Given the description of an element on the screen output the (x, y) to click on. 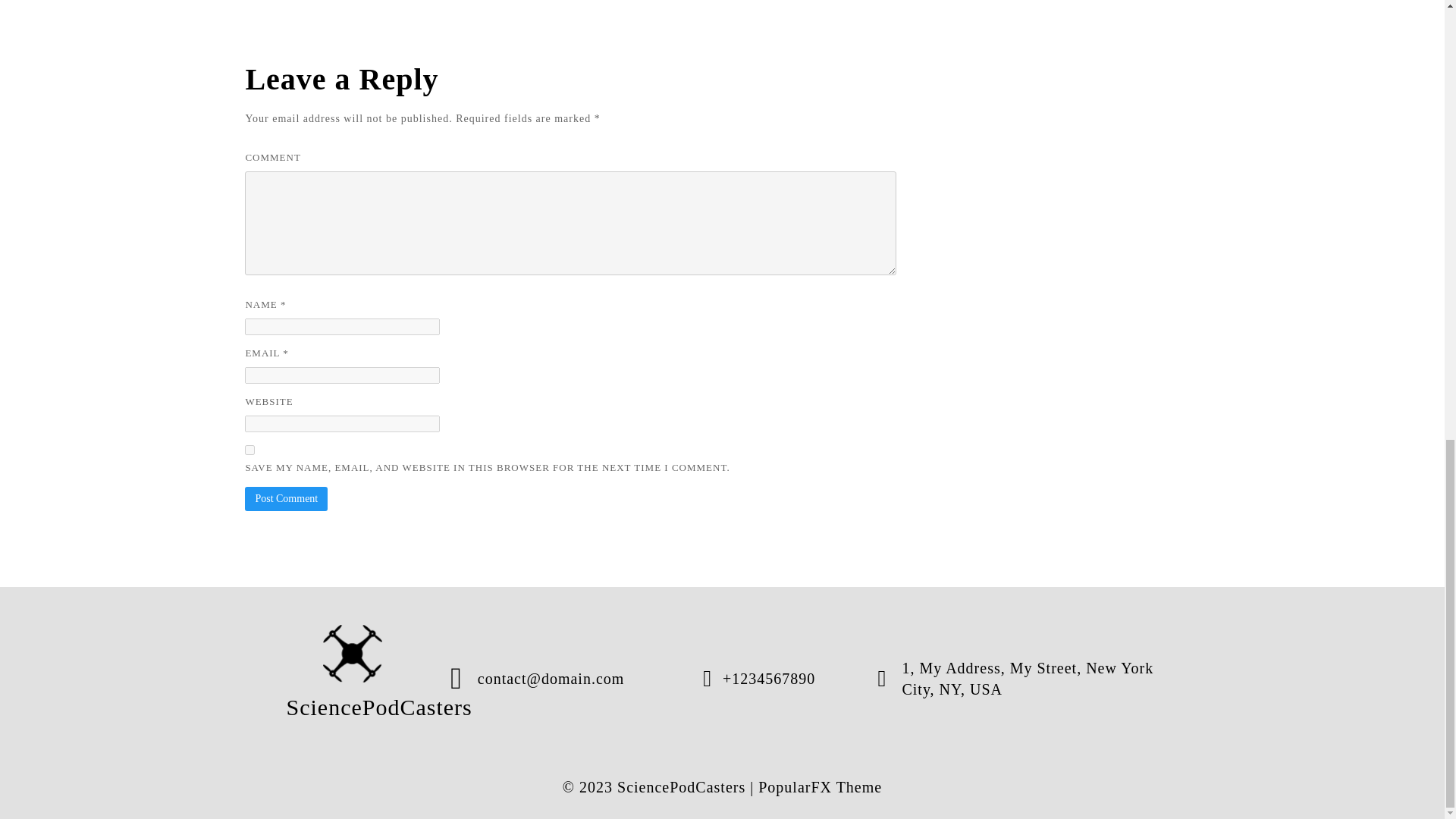
Post Comment (285, 498)
yes (249, 450)
SciencePodCasters (352, 678)
logo (352, 653)
Post Comment (285, 498)
PopularFX Theme (820, 786)
